Given the description of an element on the screen output the (x, y) to click on. 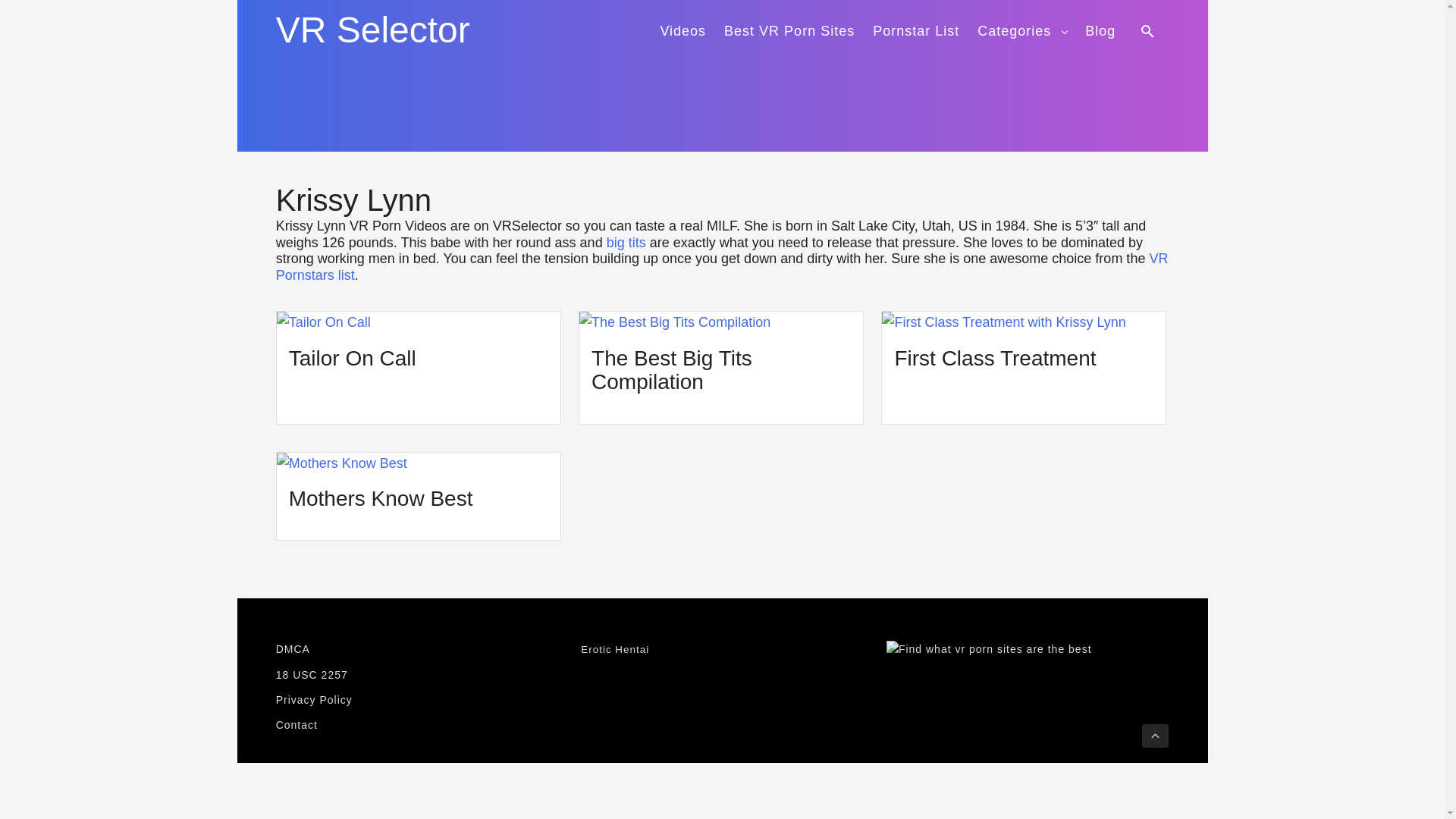
Categories (1022, 29)
VR Selector (373, 30)
Mothers Know Best (418, 463)
Search (1150, 30)
DMCA (416, 649)
Tailor On Call (418, 322)
Contact (416, 724)
Erotic Hentai (614, 649)
First Class Treatment (994, 358)
18 USC 2257 (416, 674)
big tits (626, 242)
Pornstar List (915, 29)
The Best Big Tits Compilation (721, 322)
First Class Treatment with Krissy Lynn (1024, 322)
